Given the description of an element on the screen output the (x, y) to click on. 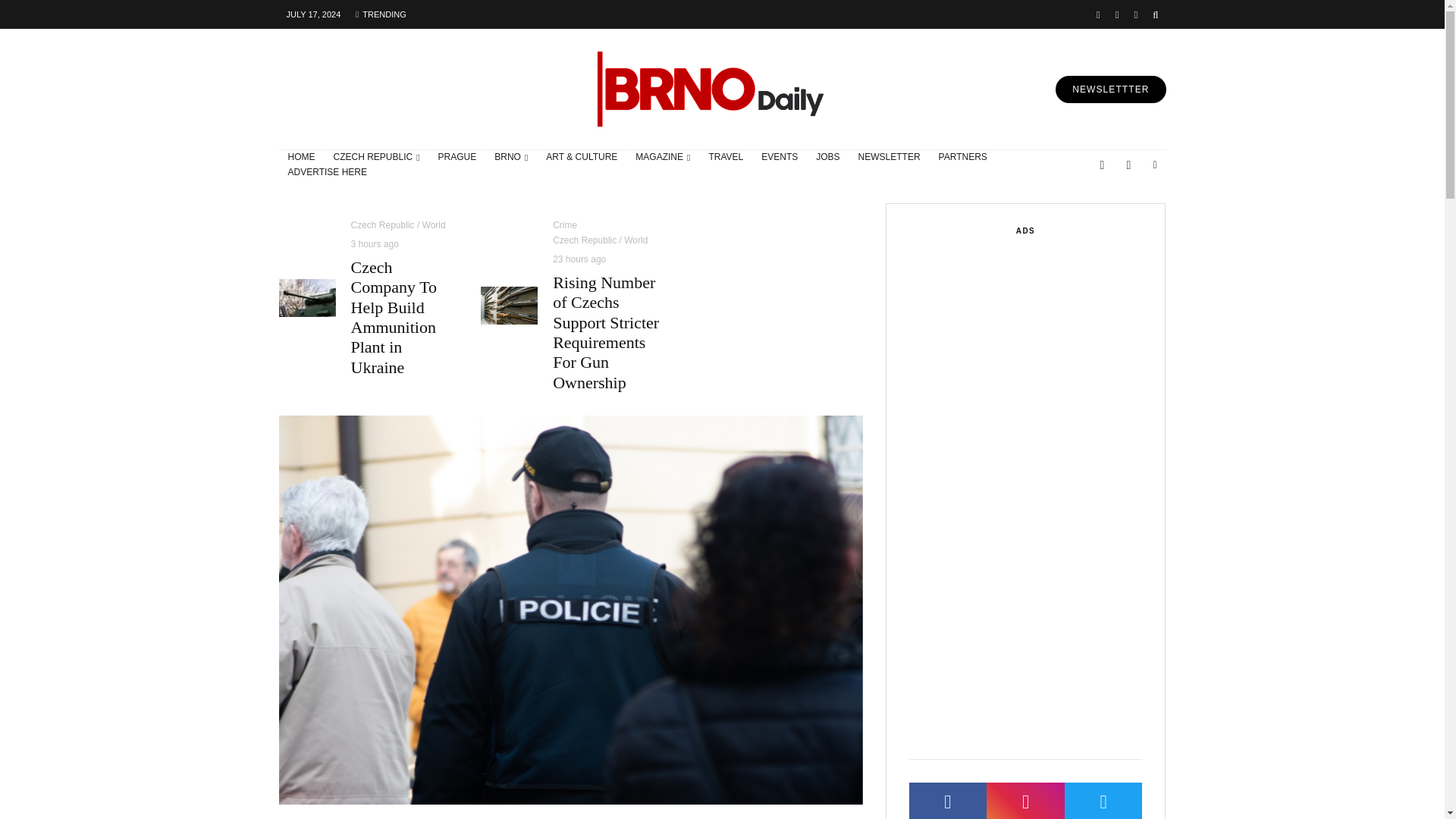
HOME (301, 157)
PRAGUE (457, 157)
TRENDING (380, 14)
NEWSLETTTER (1110, 89)
CZECH REPUBLIC (376, 157)
